Given the description of an element on the screen output the (x, y) to click on. 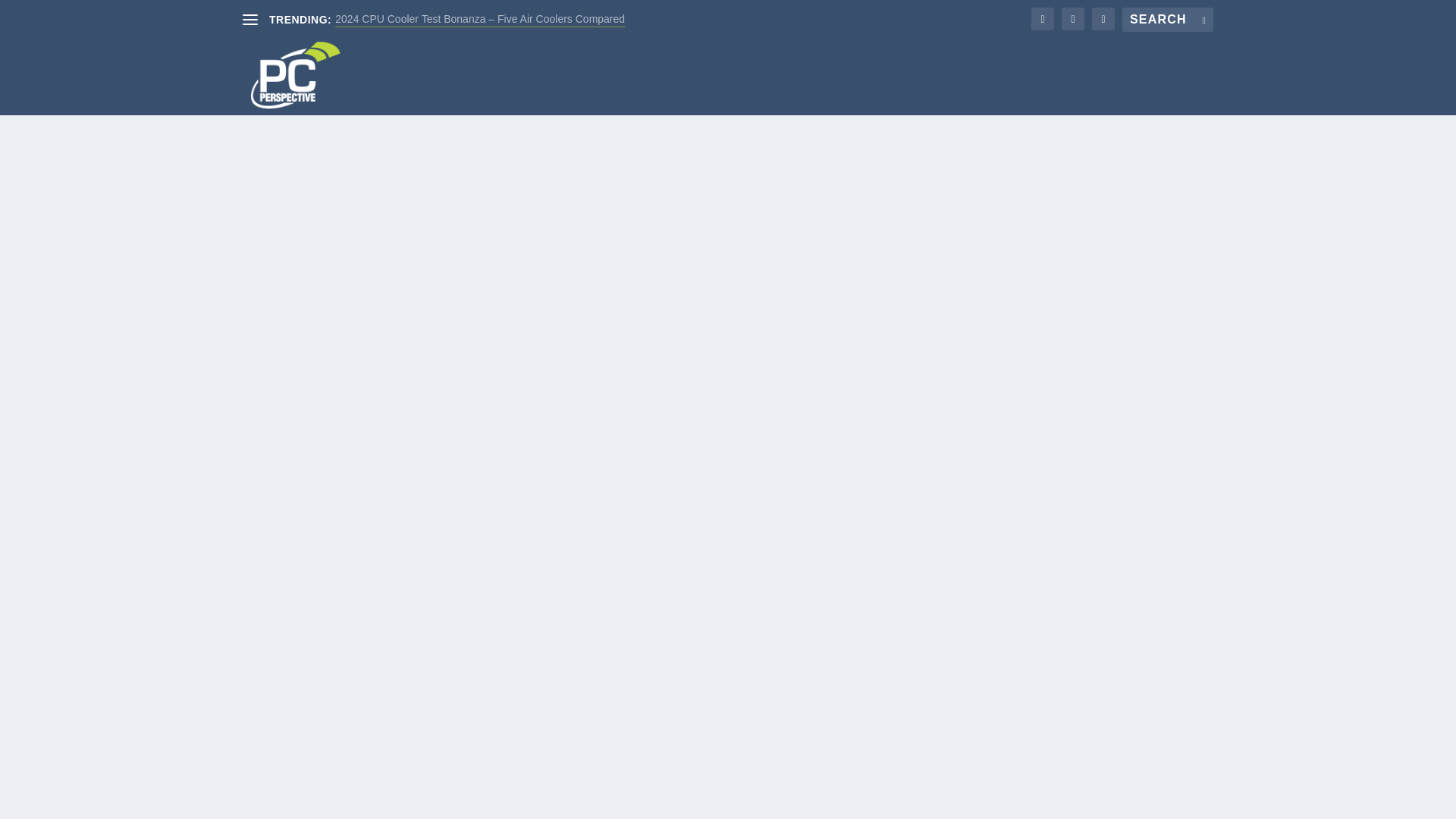
Search for: (1167, 19)
